Given the description of an element on the screen output the (x, y) to click on. 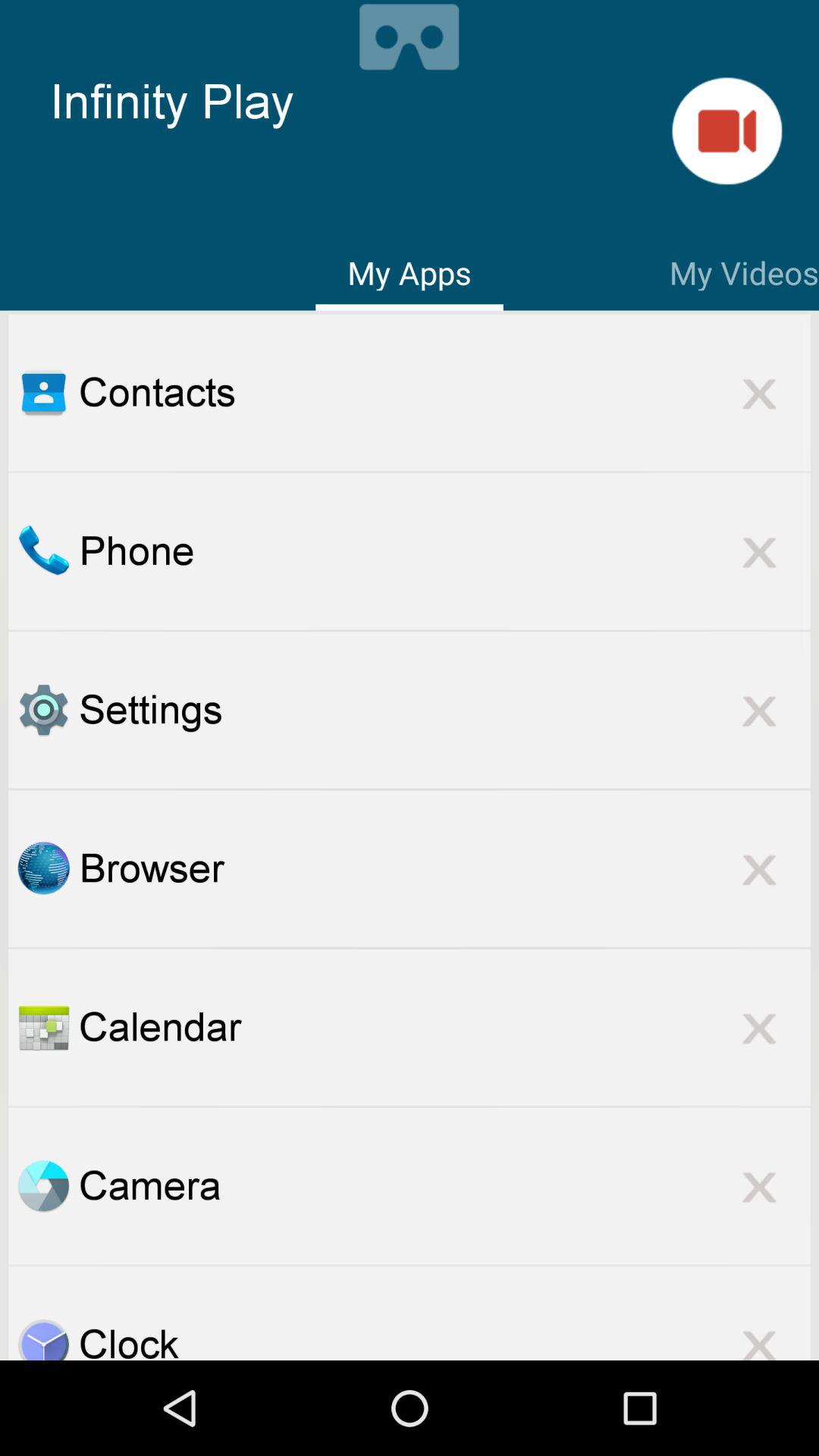
select the camera (444, 1185)
